Given the description of an element on the screen output the (x, y) to click on. 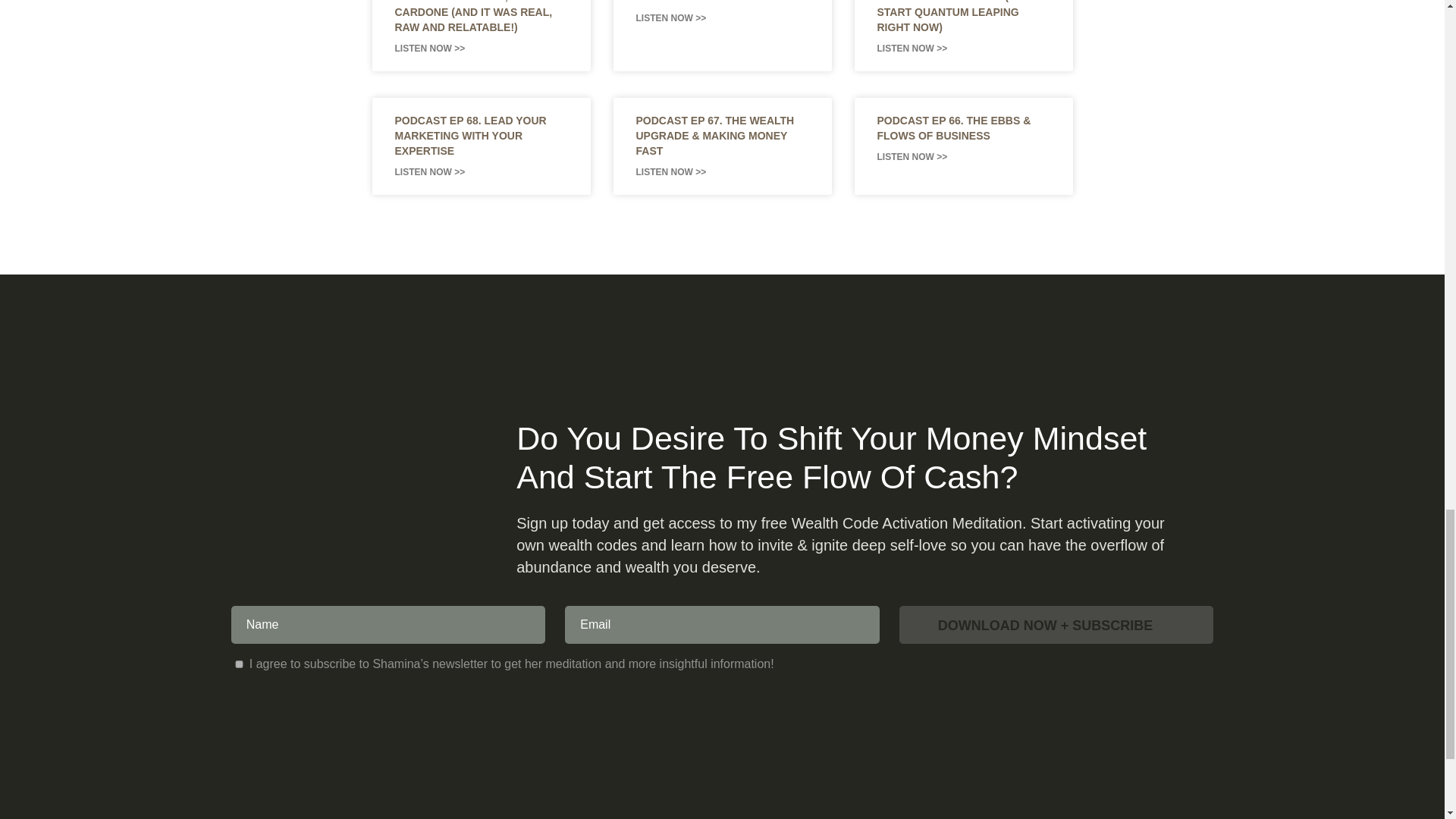
PODCAST EP 68. LEAD YOUR MARKETING WITH YOUR EXPERTISE (470, 136)
HOW RECEIVING COMPLIMENTS CAN MAKE YOU 100K A MONTH!! (719, 1)
1 (239, 664)
